Given the description of an element on the screen output the (x, y) to click on. 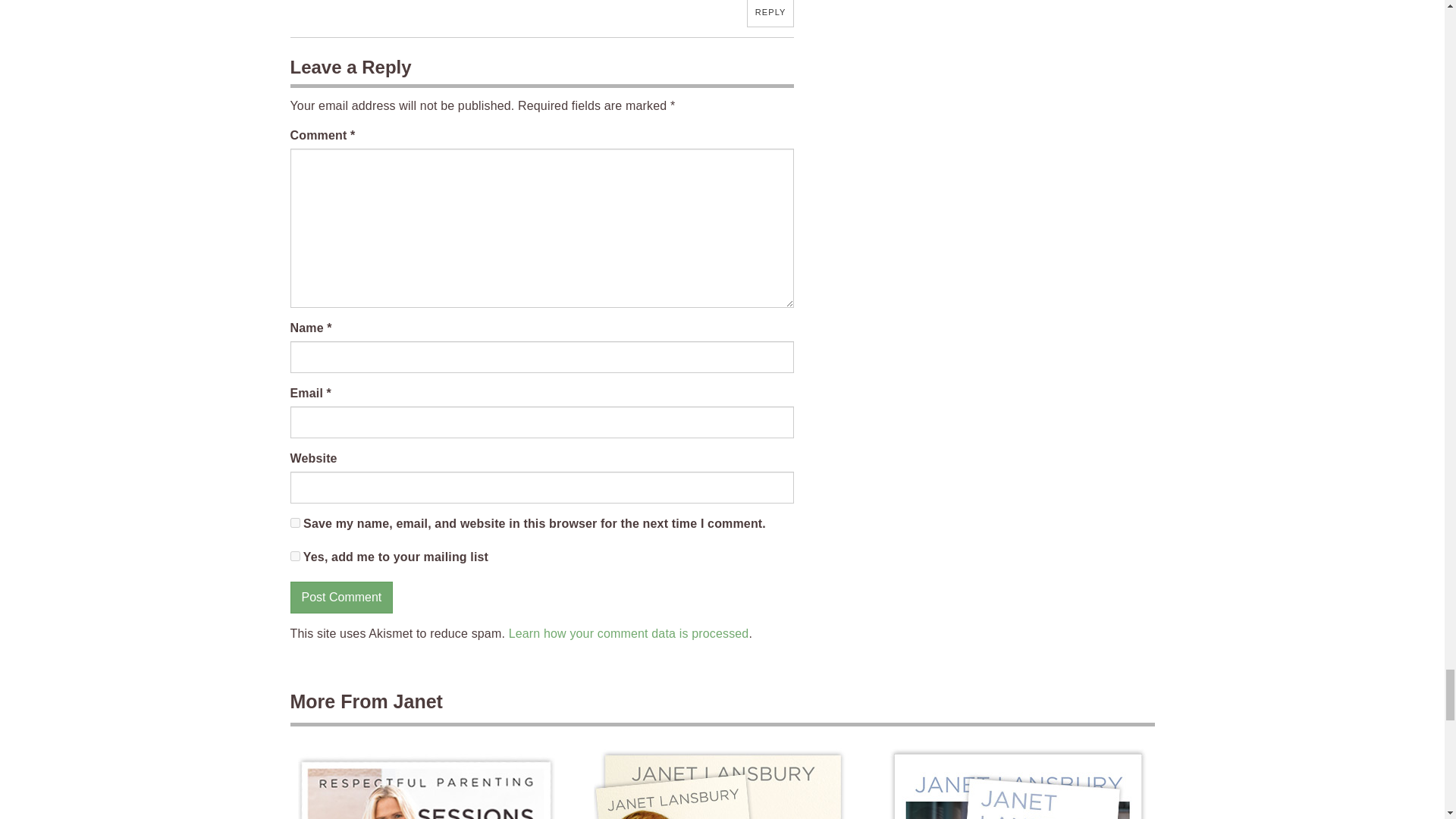
Post Comment (341, 597)
yes (294, 522)
1 (294, 556)
